Given the description of an element on the screen output the (x, y) to click on. 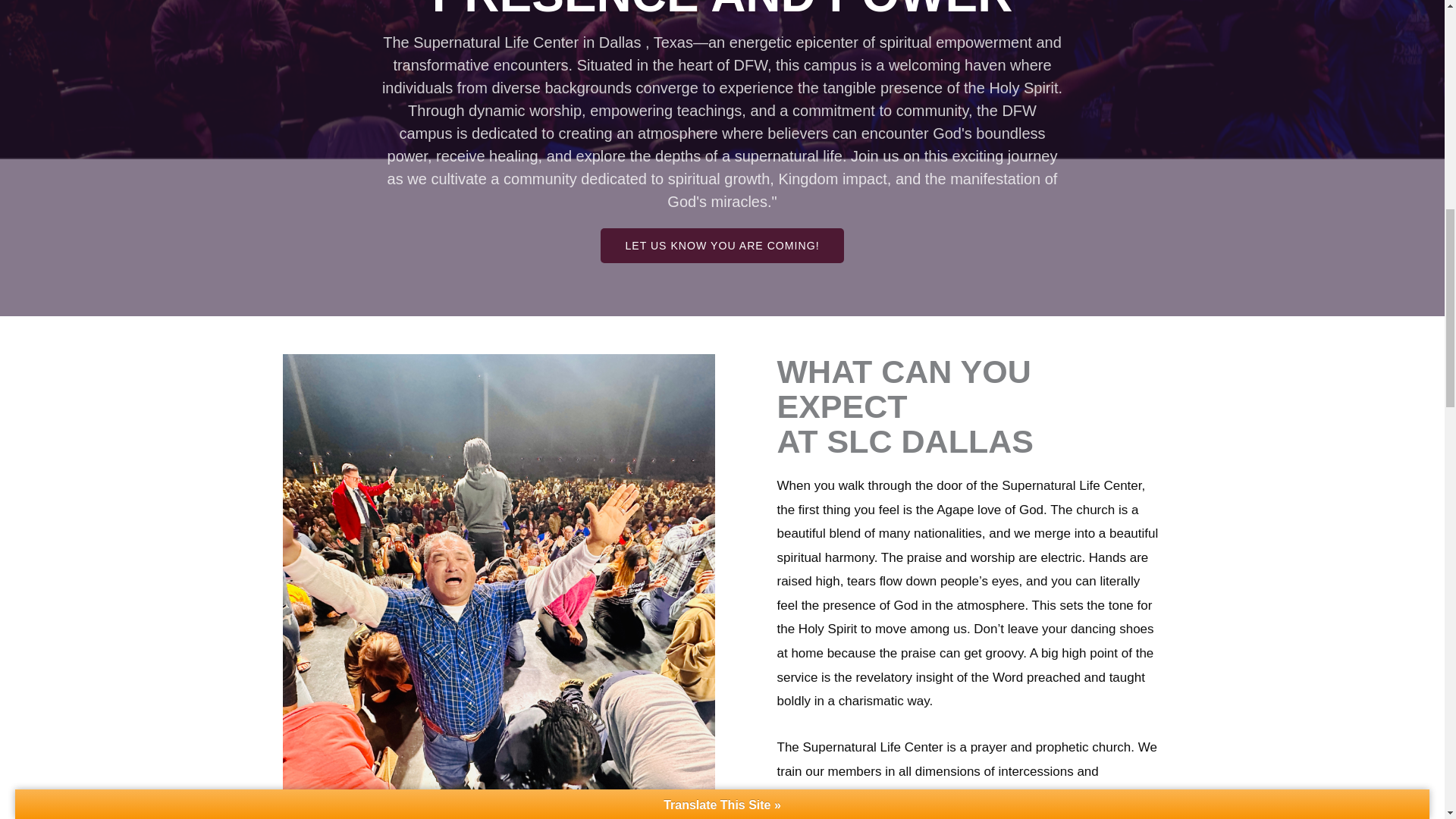
LET US KNOW YOU ARE COMING! (721, 245)
